Given the description of an element on the screen output the (x, y) to click on. 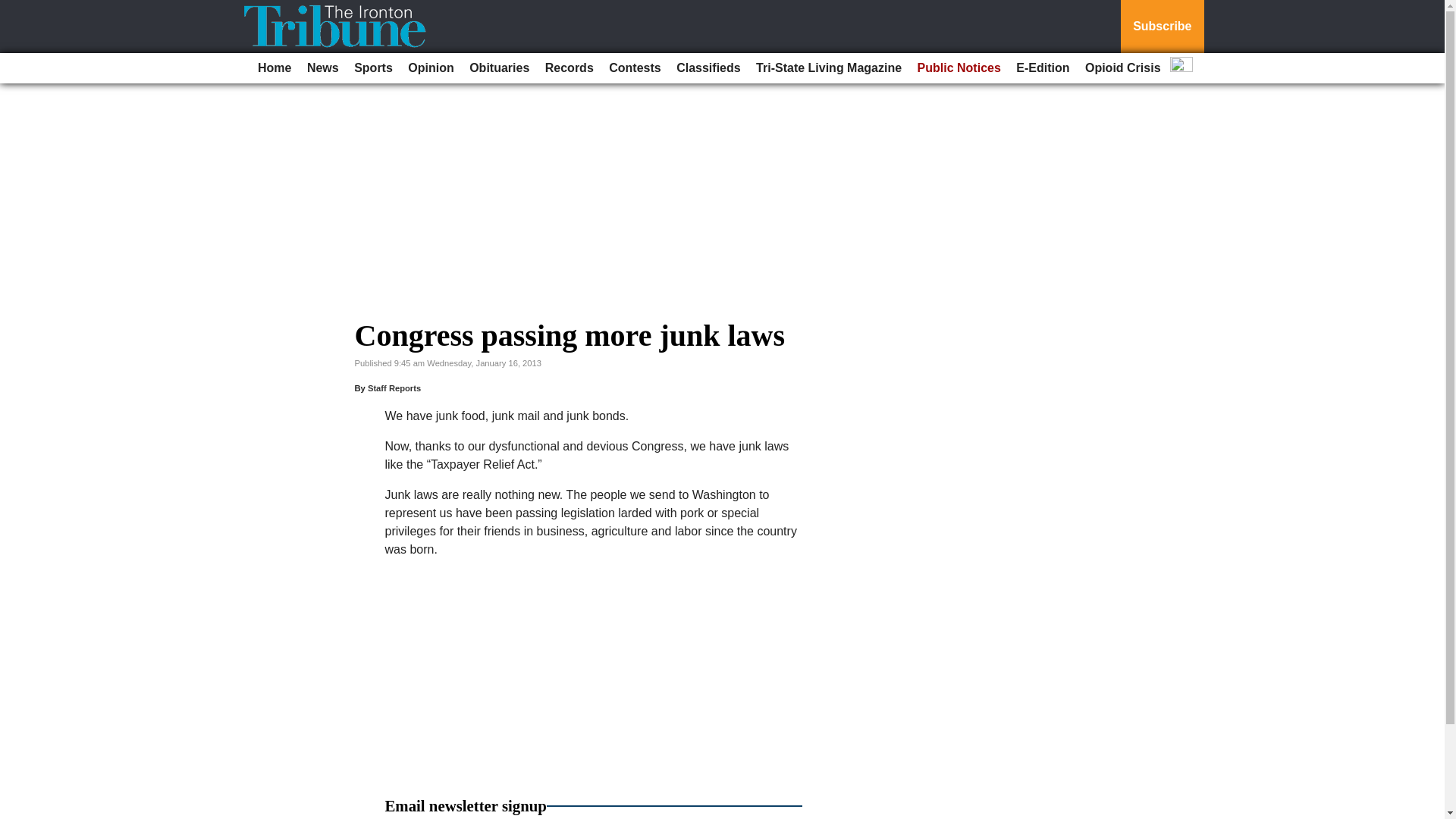
Staff Reports (394, 388)
Obituaries (499, 68)
E-Edition (1042, 68)
Opioid Crisis (1122, 68)
News (323, 68)
Subscribe (1162, 26)
Home (274, 68)
Public Notices (959, 68)
Sports (372, 68)
Go (13, 9)
Tri-State Living Magazine (828, 68)
Classifieds (707, 68)
Contests (634, 68)
Records (568, 68)
Opinion (430, 68)
